Given the description of an element on the screen output the (x, y) to click on. 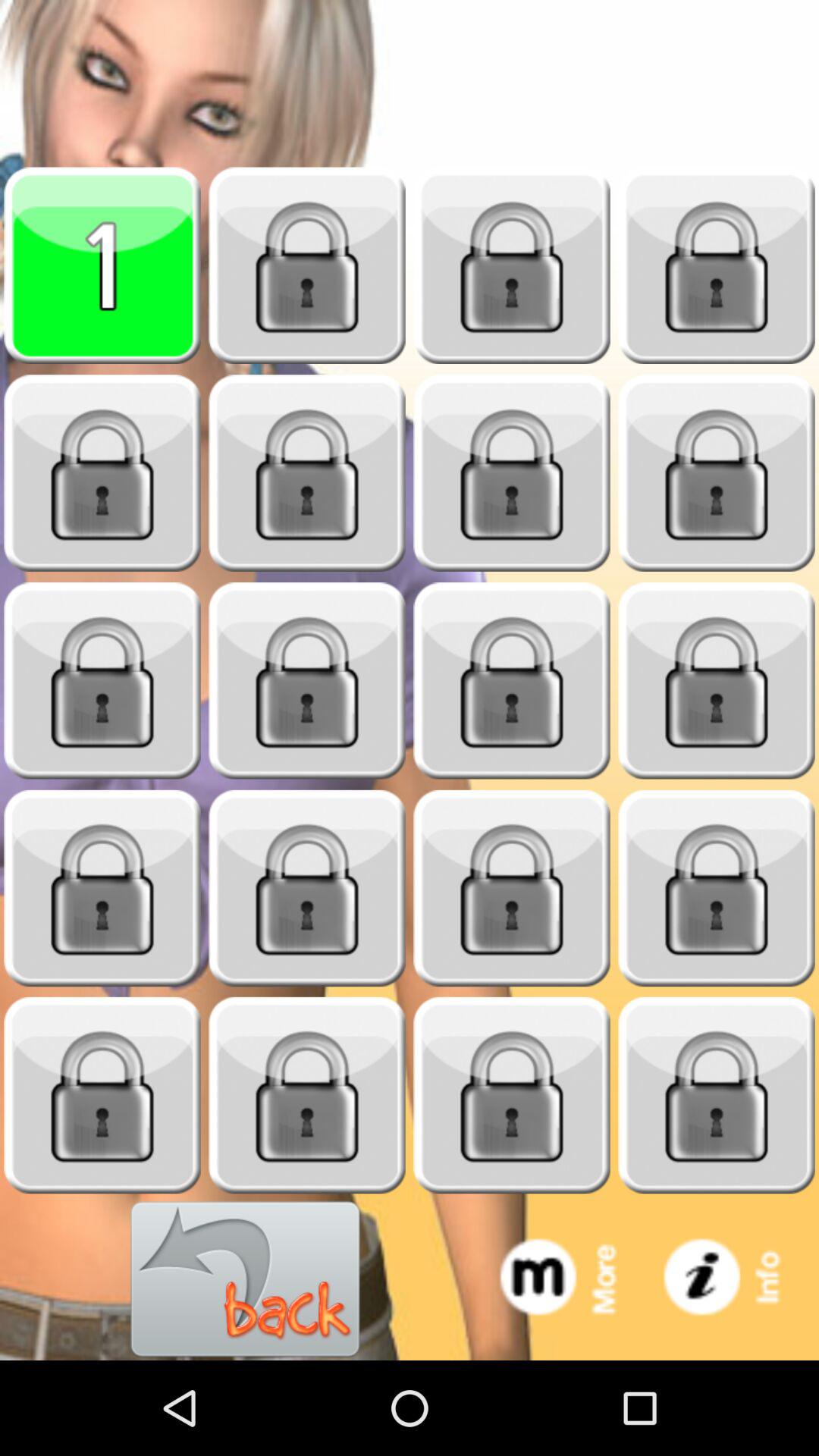
information (737, 1279)
